Given the description of an element on the screen output the (x, y) to click on. 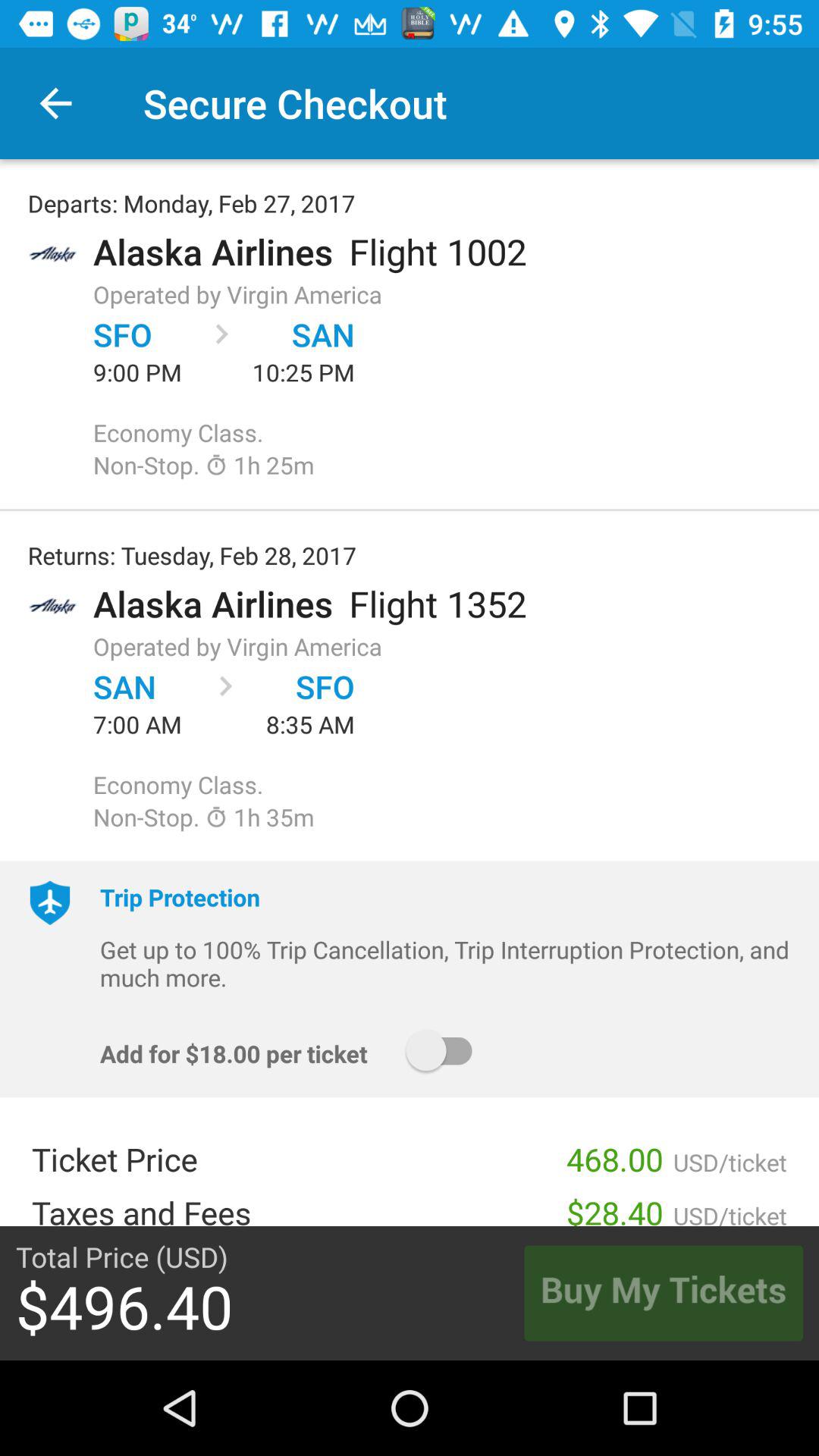
select the item to the right of the add for 18 (446, 1050)
